Given the description of an element on the screen output the (x, y) to click on. 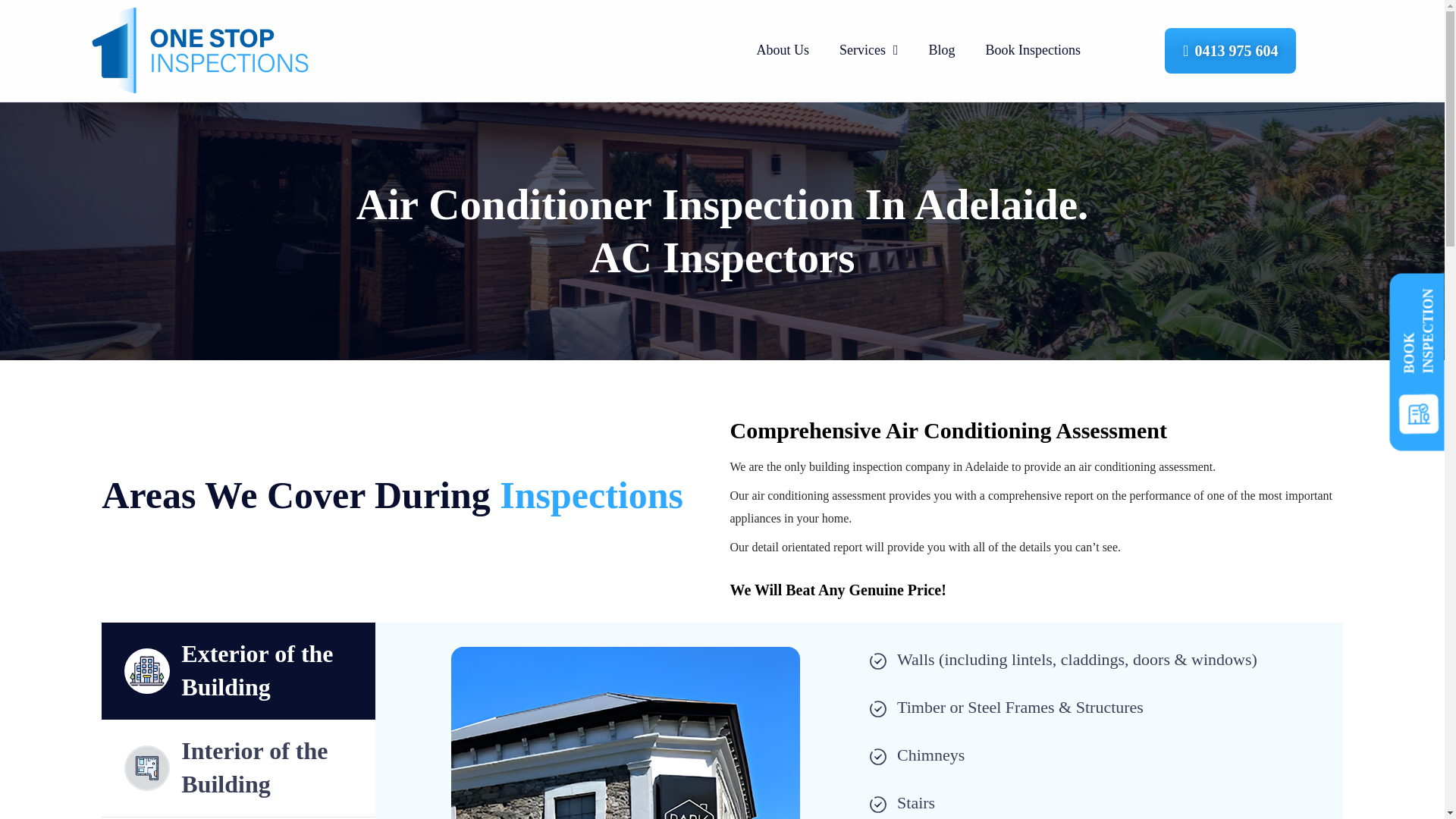
0413 975 604 (1229, 49)
Book Inspections (1033, 50)
Blog (942, 50)
Services (869, 50)
About Us (783, 50)
